Given the description of an element on the screen output the (x, y) to click on. 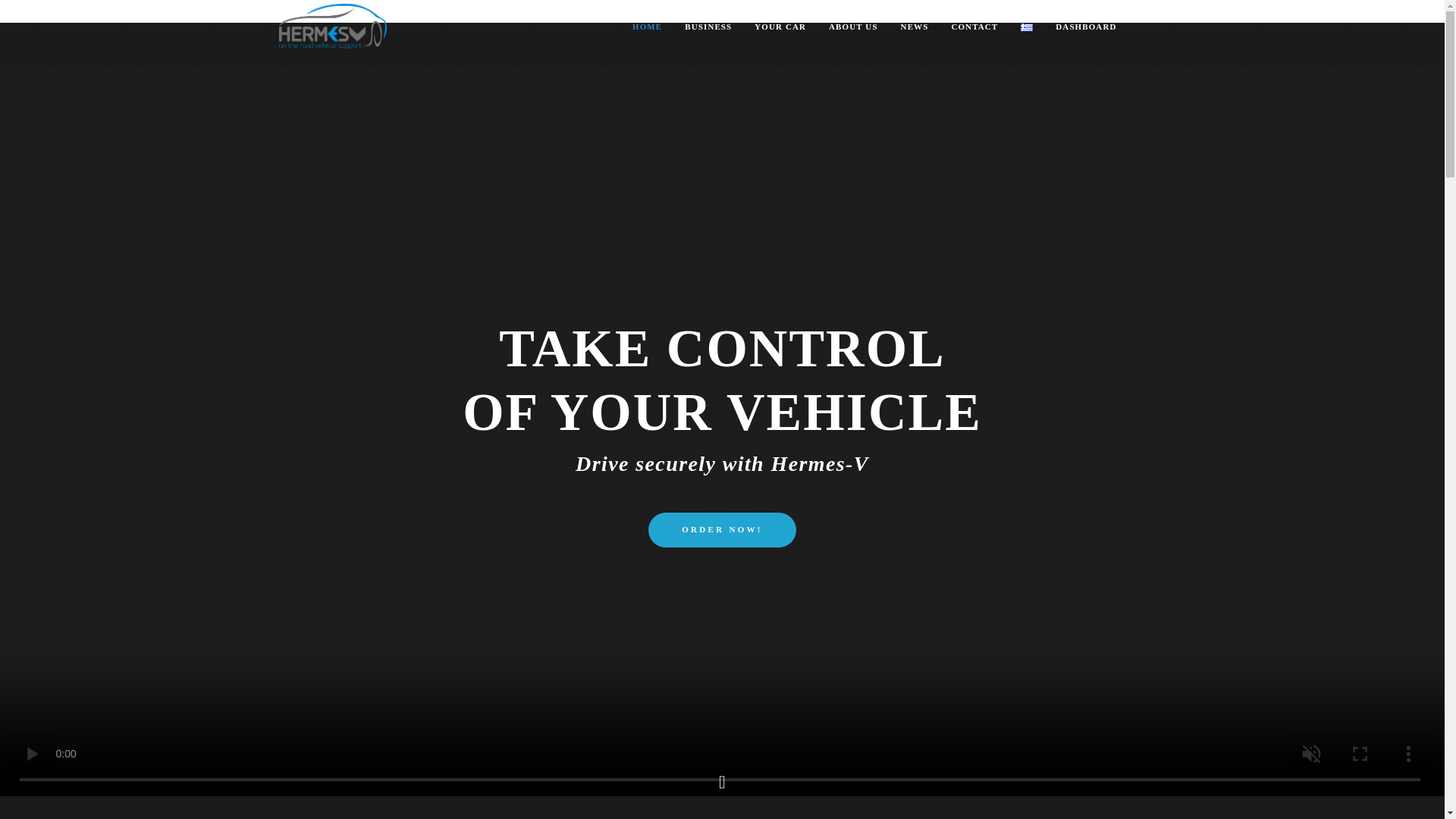
YOUR CAR (780, 26)
ABOUT US (852, 26)
DASHBOARD (1085, 26)
ORDER NOW! (721, 529)
